Given the description of an element on the screen output the (x, y) to click on. 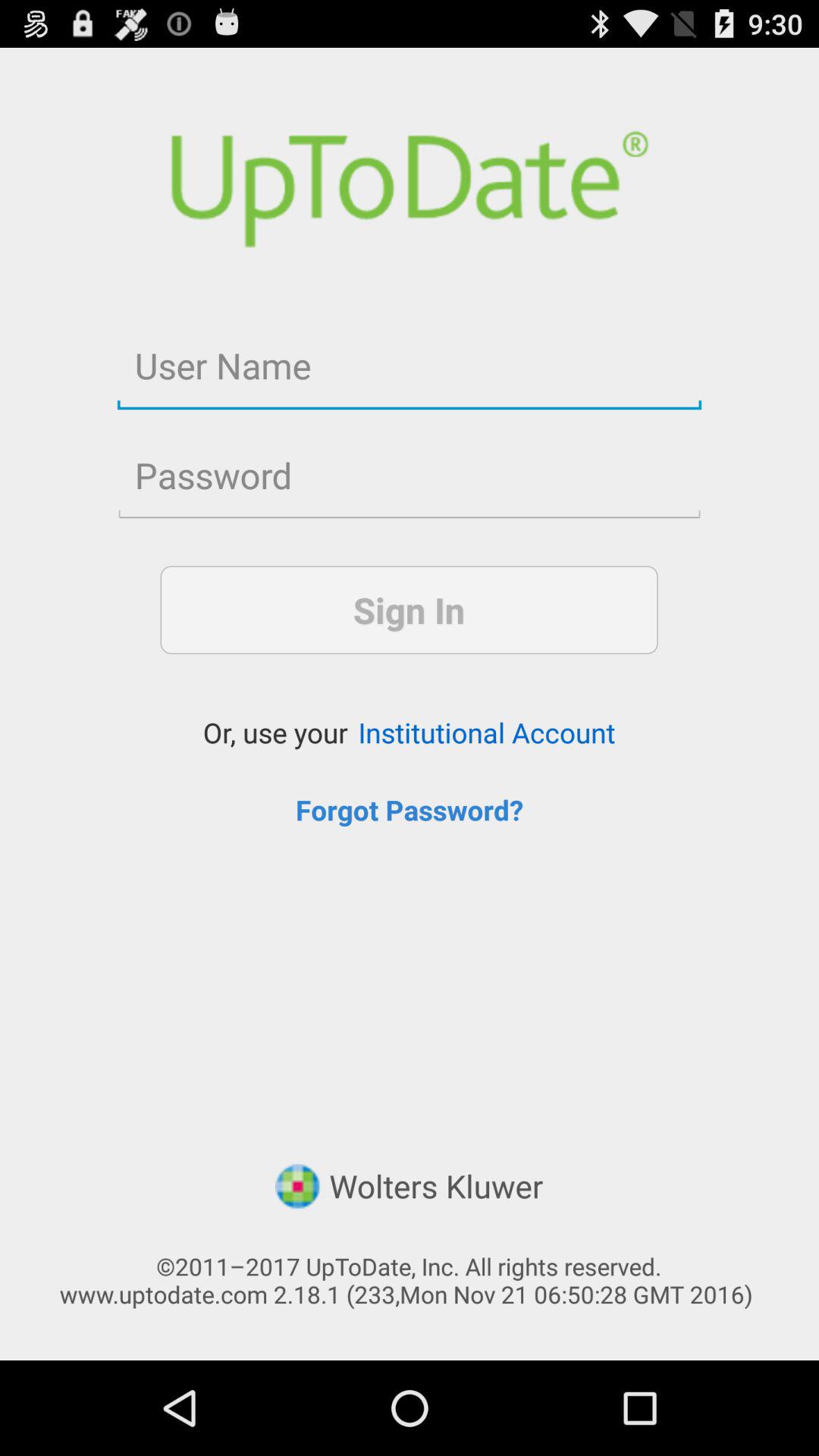
open the icon below forgot password? icon (409, 1187)
